Given the description of an element on the screen output the (x, y) to click on. 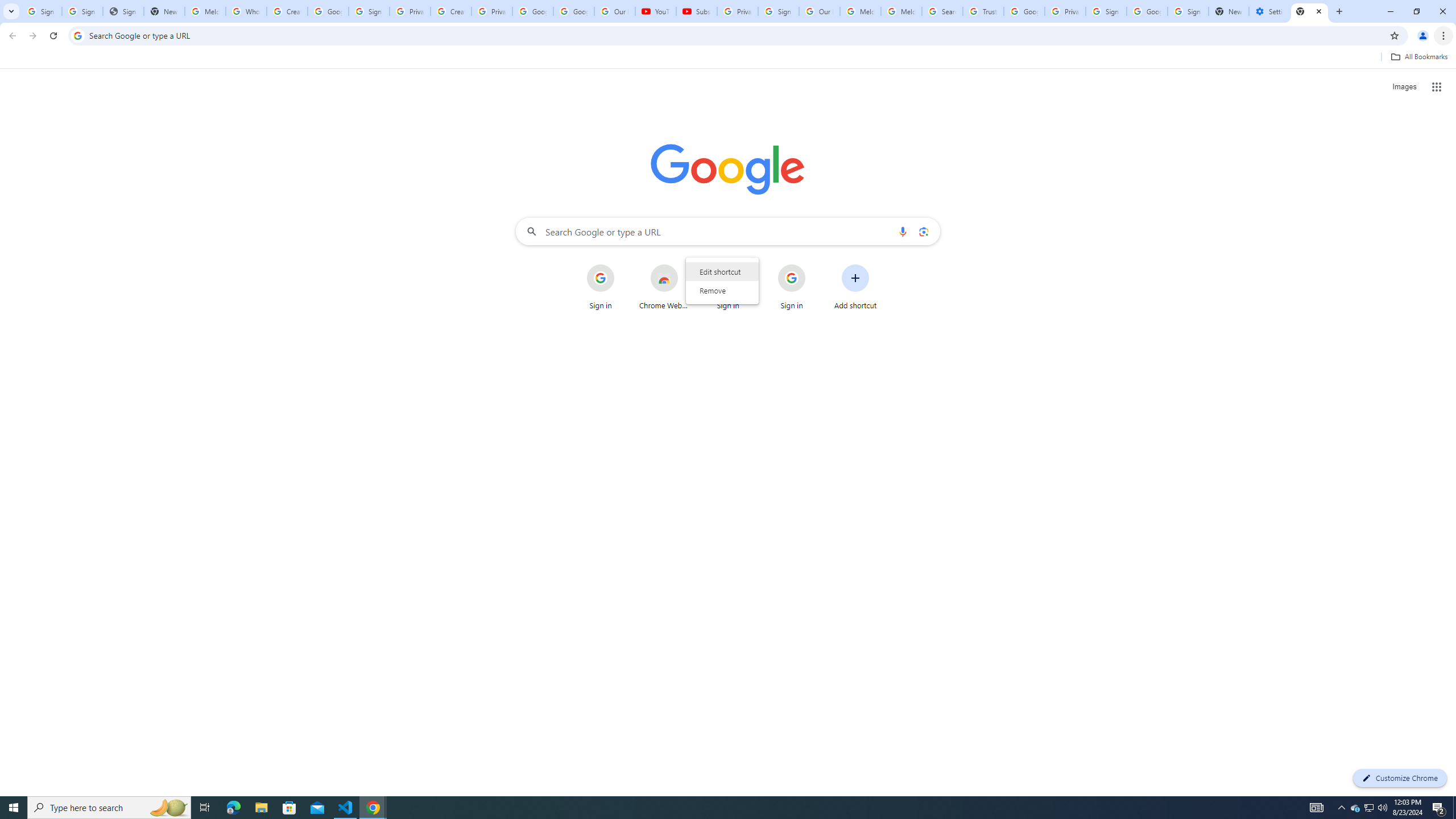
Create your Google Account (287, 11)
Sign in - Google Accounts (1105, 11)
Google Cybersecurity Innovations - Google Safety Center (1146, 11)
Edit shortcut (721, 271)
Settings - Addresses and more (1268, 11)
AutomationID: wrapper (721, 280)
Trusted Information and Content - Google Safety Center (983, 11)
